Given the description of an element on the screen output the (x, y) to click on. 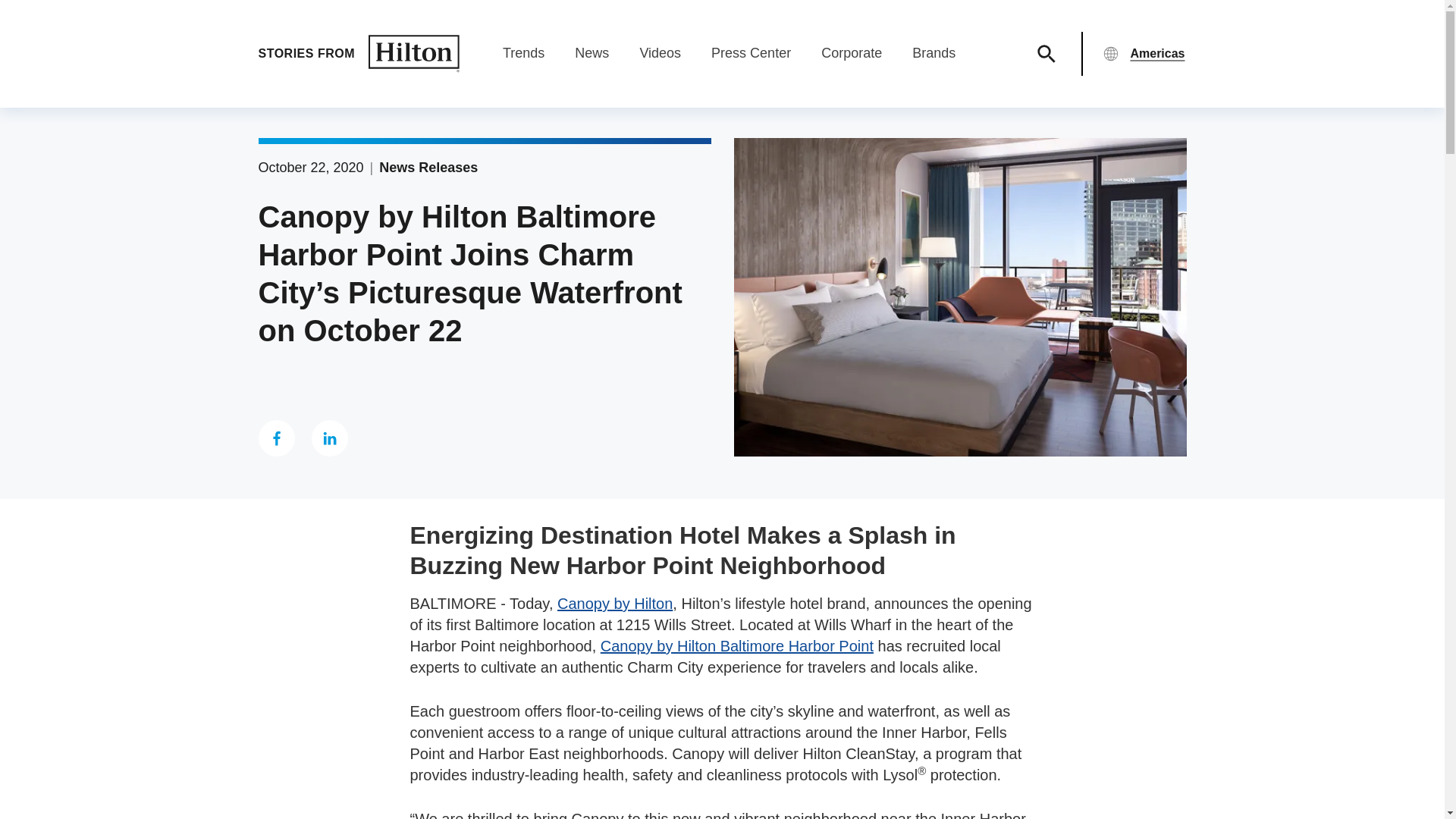
Trends (523, 53)
Stories From Hilton (358, 53)
Corporate (851, 53)
News (591, 53)
Press Center (750, 53)
STORIES FROM (358, 53)
Videos (660, 53)
